Given the description of an element on the screen output the (x, y) to click on. 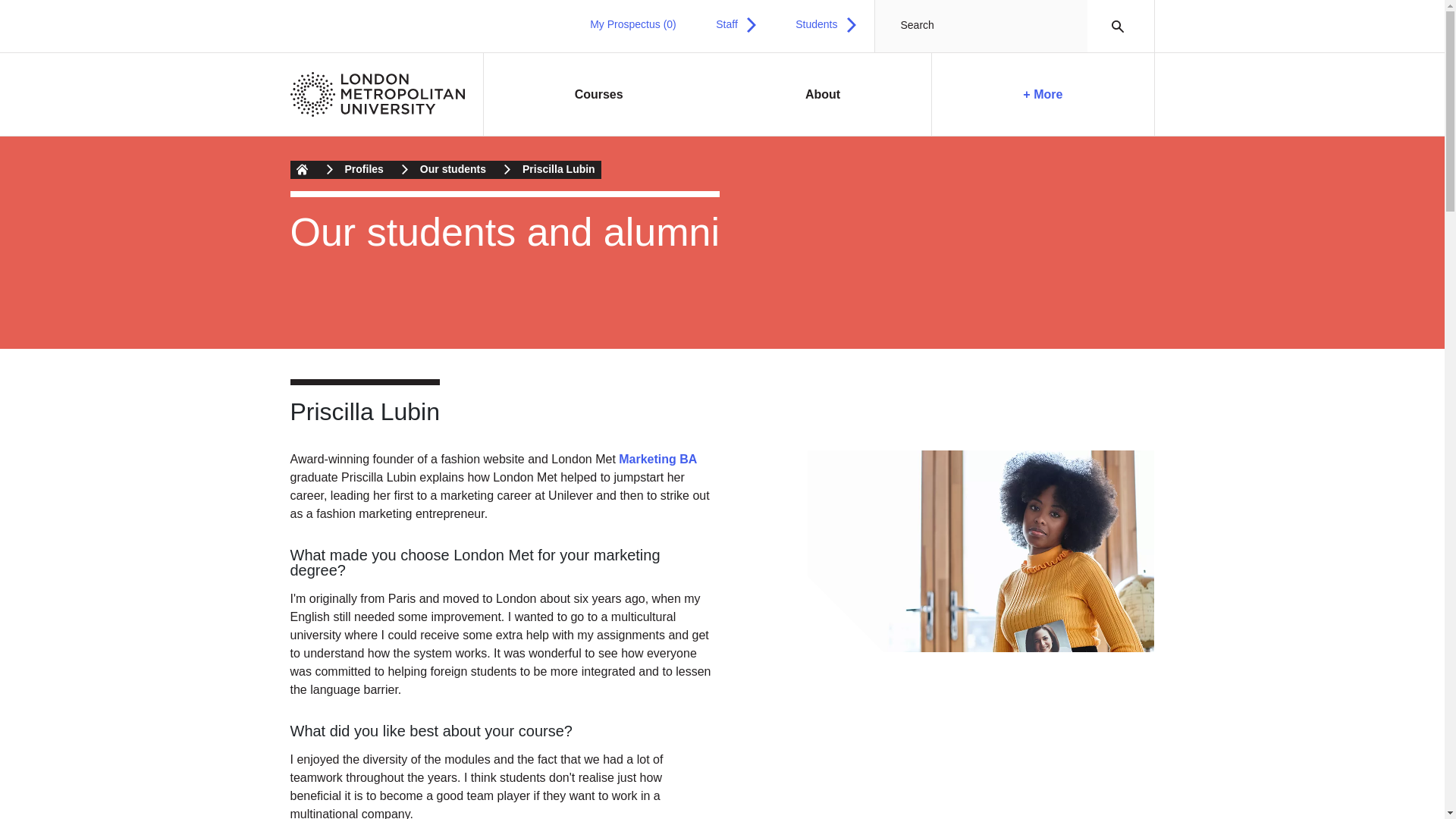
Search (1113, 26)
About (822, 94)
Staff (735, 24)
Courses (598, 94)
Search (1113, 26)
Students (825, 24)
